Given the description of an element on the screen output the (x, y) to click on. 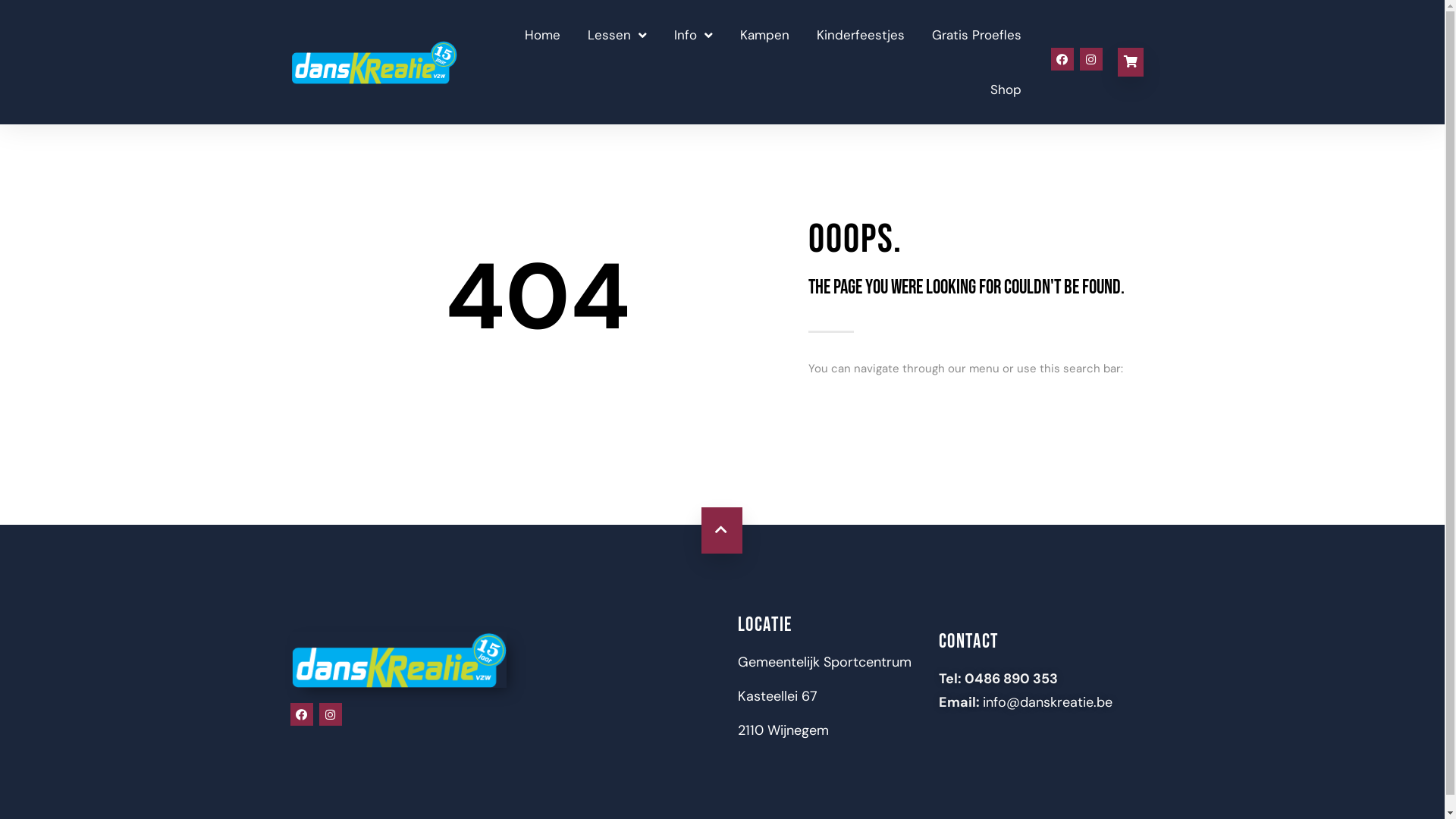
Kampen Element type: text (764, 34)
Lessen Element type: text (617, 34)
Home Element type: text (542, 34)
Shop Element type: text (1005, 89)
Info Element type: text (693, 34)
info@danskreatie.be Element type: text (1047, 702)
Kinderfeestjes Element type: text (860, 34)
Gratis Proefles Element type: text (976, 34)
